Given the description of an element on the screen output the (x, y) to click on. 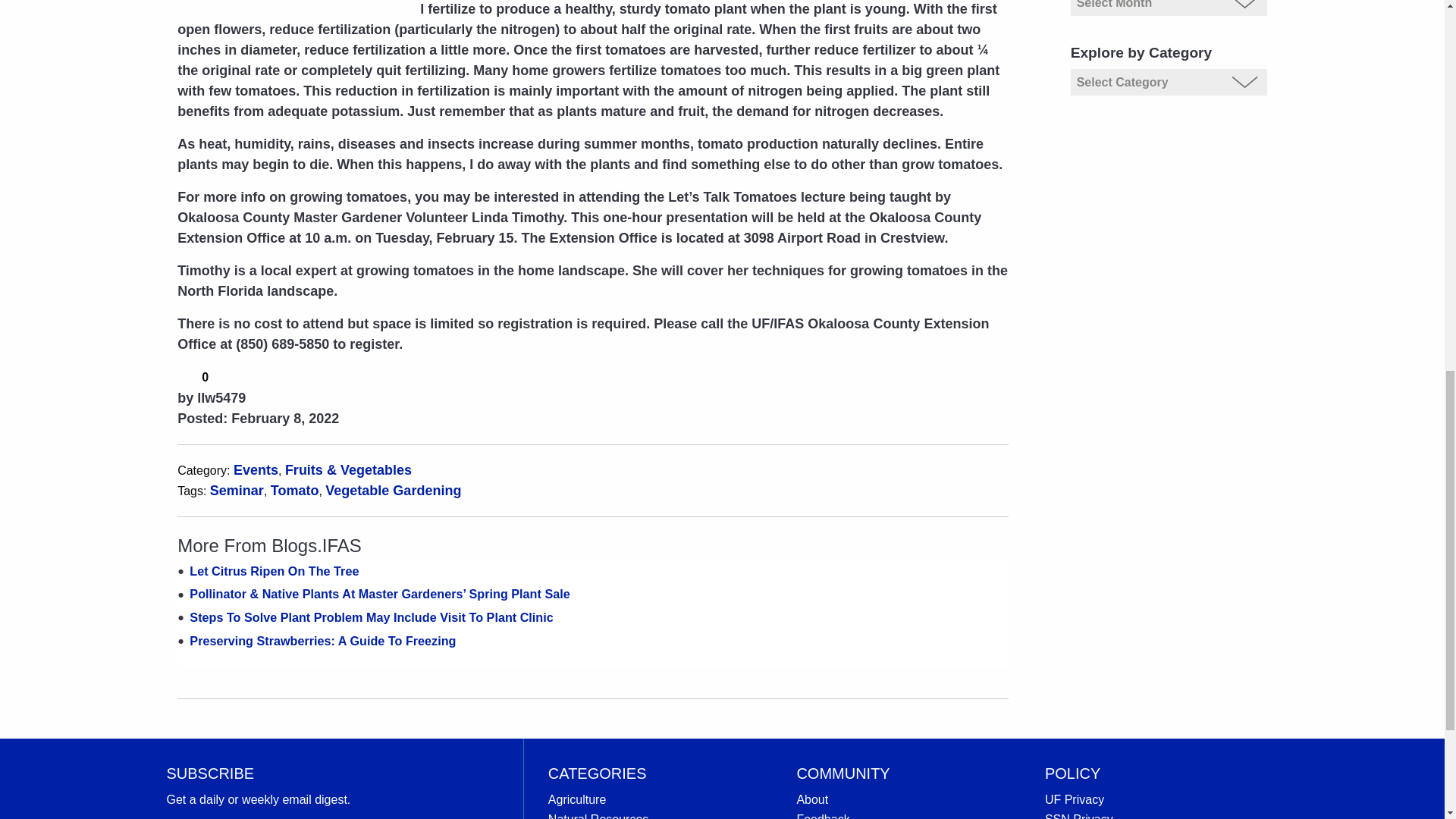
I found this post helpful (186, 375)
